Given the description of an element on the screen output the (x, y) to click on. 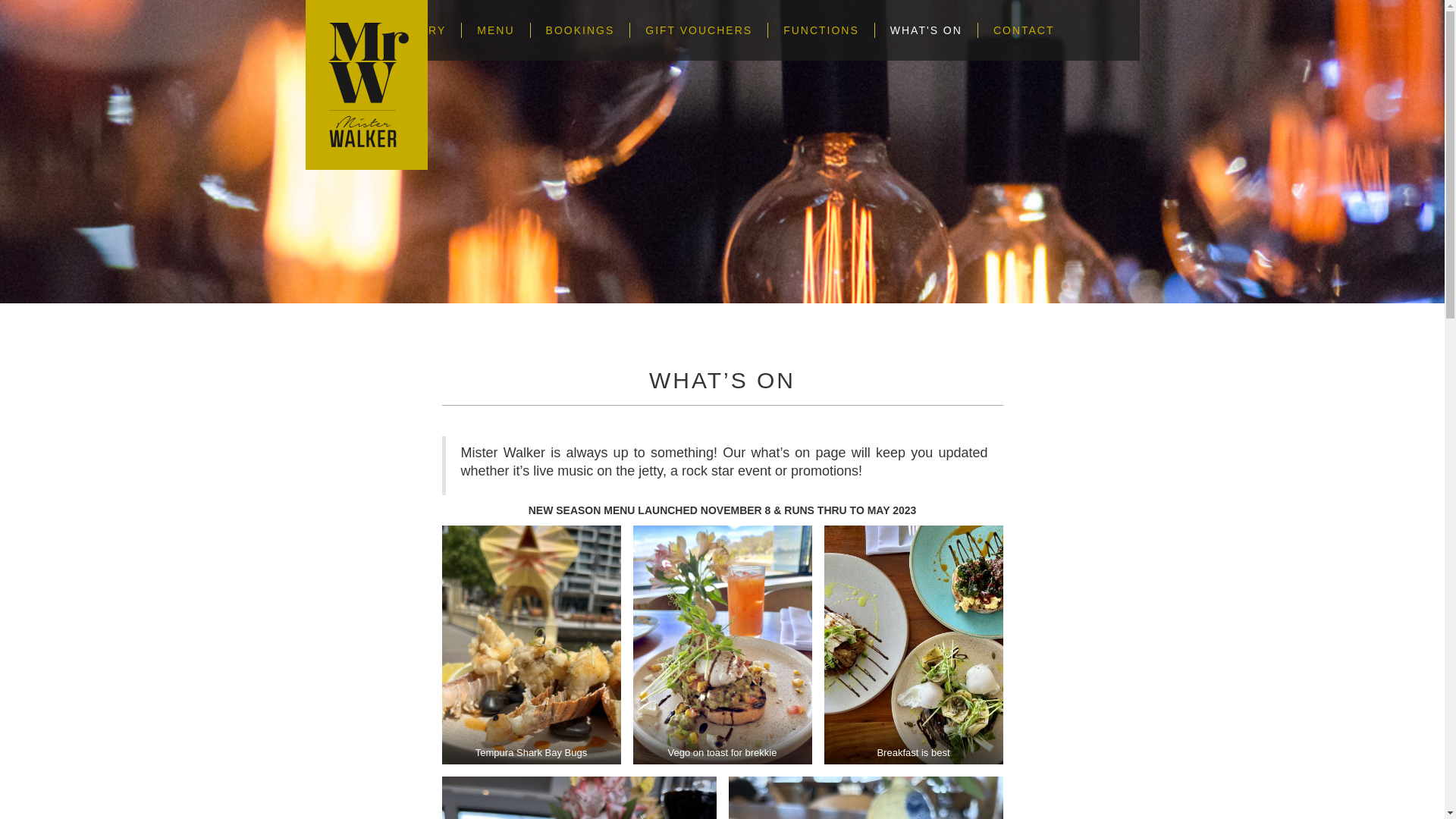
GALLERY Element type: text (416, 29)
BOOKINGS Element type: text (580, 29)
CONTACT Element type: text (1024, 29)
FUNCTIONS Element type: text (821, 29)
MENU Element type: text (495, 29)
GIFT VOUCHERS Element type: text (699, 29)
WHAT'S ON Element type: text (926, 29)
